Given the description of an element on the screen output the (x, y) to click on. 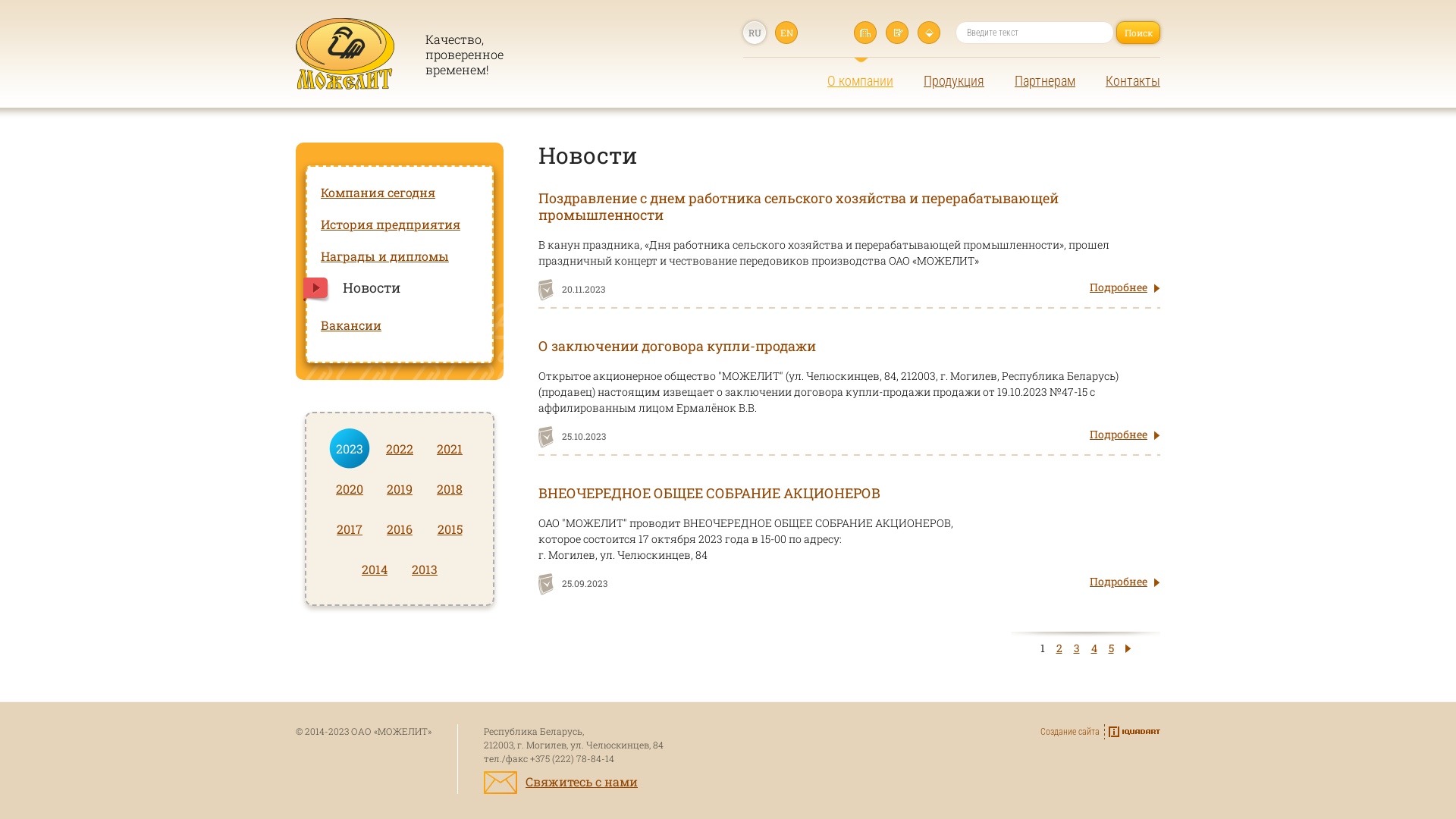
2 Element type: text (1058, 647)
3 Element type: text (1076, 647)
2019 Element type: text (399, 488)
2016 Element type: text (399, 528)
2020 Element type: text (349, 488)
2015 Element type: text (449, 528)
5 Element type: text (1110, 647)
4 Element type: text (1093, 647)
2022 Element type: text (399, 448)
EN Element type: text (786, 32)
2013 Element type: text (424, 569)
2018 Element type: text (449, 488)
2014 Element type: text (374, 569)
2017 Element type: text (349, 528)
2021 Element type: text (449, 448)
